Given the description of an element on the screen output the (x, y) to click on. 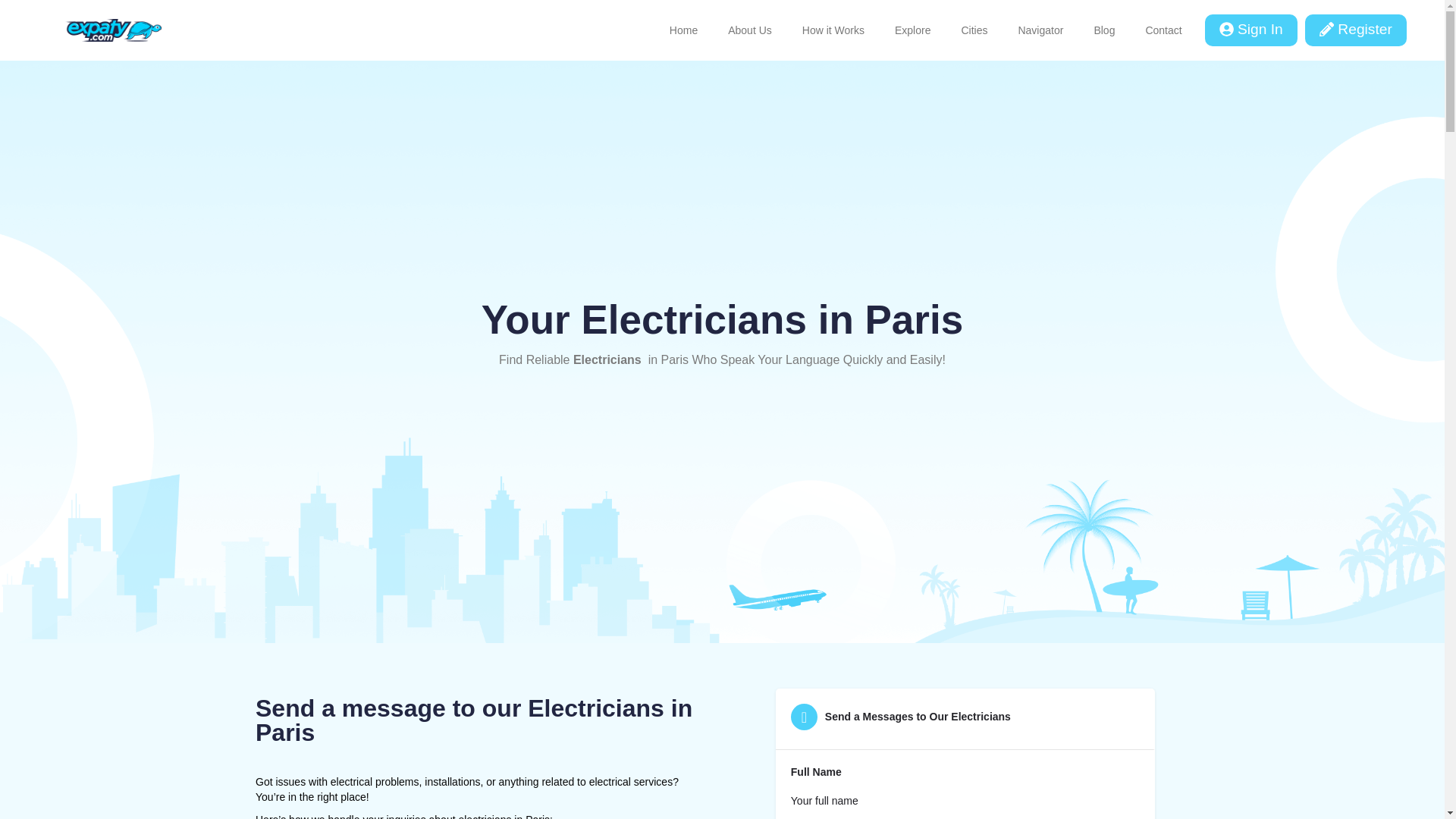
Cities (973, 30)
Home (683, 30)
About Us (750, 30)
Navigator (1040, 30)
How it Works (833, 30)
Contact (1162, 30)
Explore (911, 30)
Blog (1103, 30)
